Given the description of an element on the screen output the (x, y) to click on. 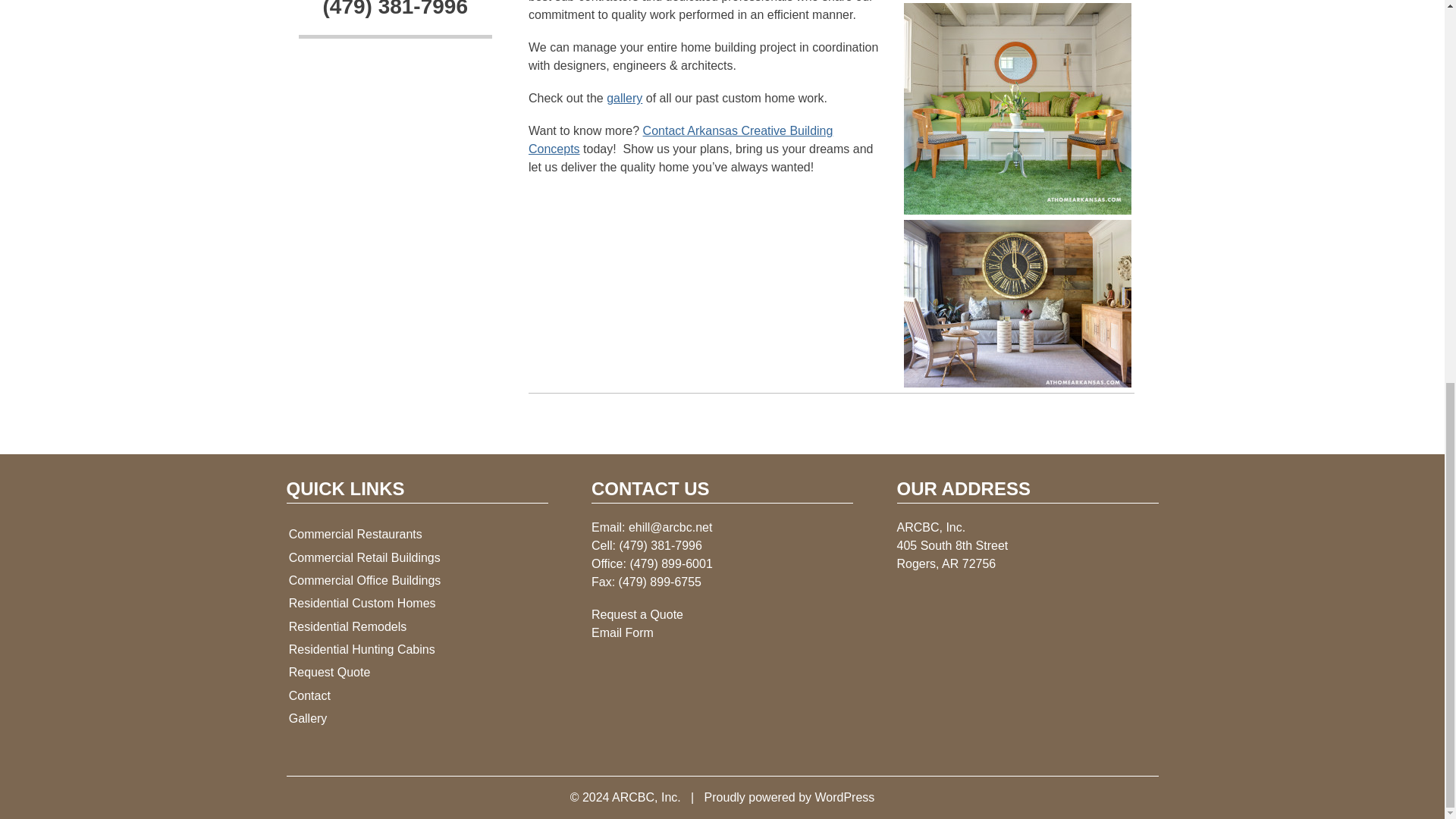
Email Form (622, 632)
Request a Quote (636, 614)
Gallery (417, 718)
Residential Remodels (417, 626)
Contact (417, 695)
Residential Hunting Cabins (417, 649)
Request Quote (417, 671)
gallery (624, 97)
Commercial Restaurants (417, 534)
Commercial Office Buildings (417, 580)
Residential Custom Homes (417, 603)
Contact Arkansas Creative Building Concepts (680, 139)
Commercial Retail Buildings (417, 557)
